Given the description of an element on the screen output the (x, y) to click on. 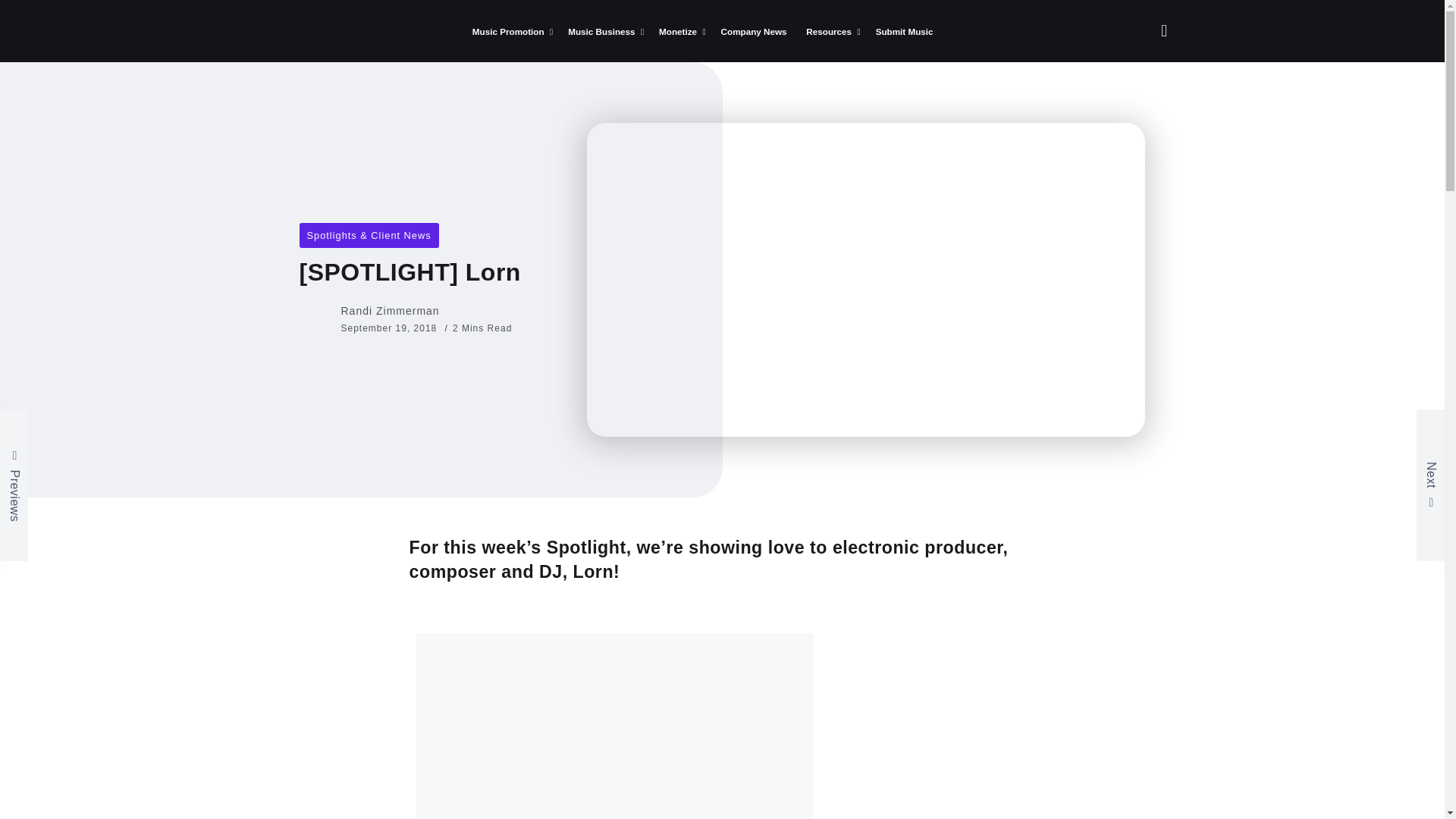
Resources (831, 31)
Submit Music (903, 31)
Monetize (679, 31)
Music Business (604, 31)
Company News (754, 31)
Music Promotion (510, 31)
